Given the description of an element on the screen output the (x, y) to click on. 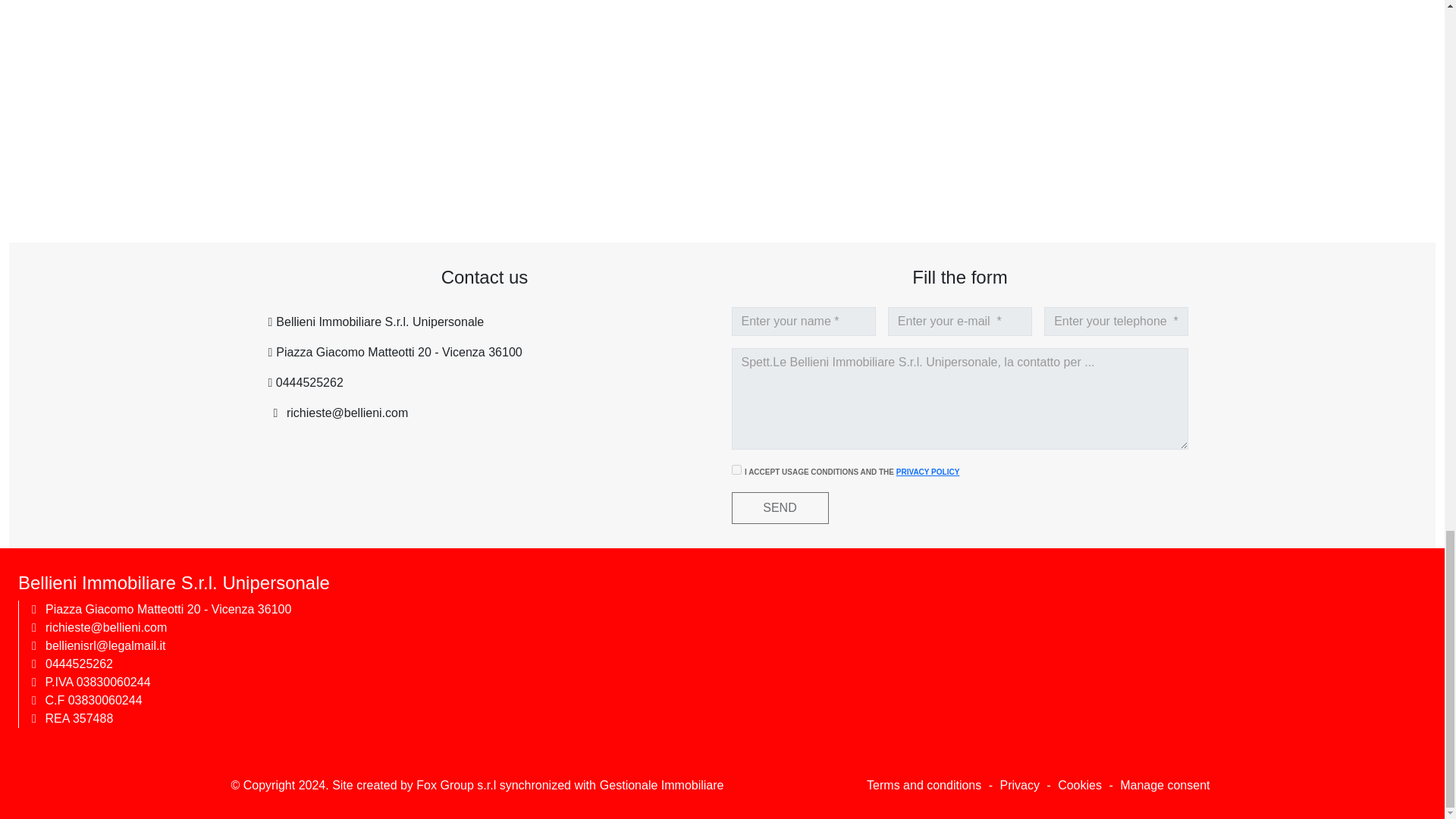
Piazza Giacomo Matteotti 20 - Vicenza 36100 (168, 608)
Piazza Giacomo Matteotti 20 - Vicenza 36100 (396, 351)
Bellieni Immobiliare S.r.l. Unipersonale (377, 321)
PRIVACY POLICY (927, 471)
on (735, 470)
SEND (779, 508)
 0444525262 (307, 382)
